Given the description of an element on the screen output the (x, y) to click on. 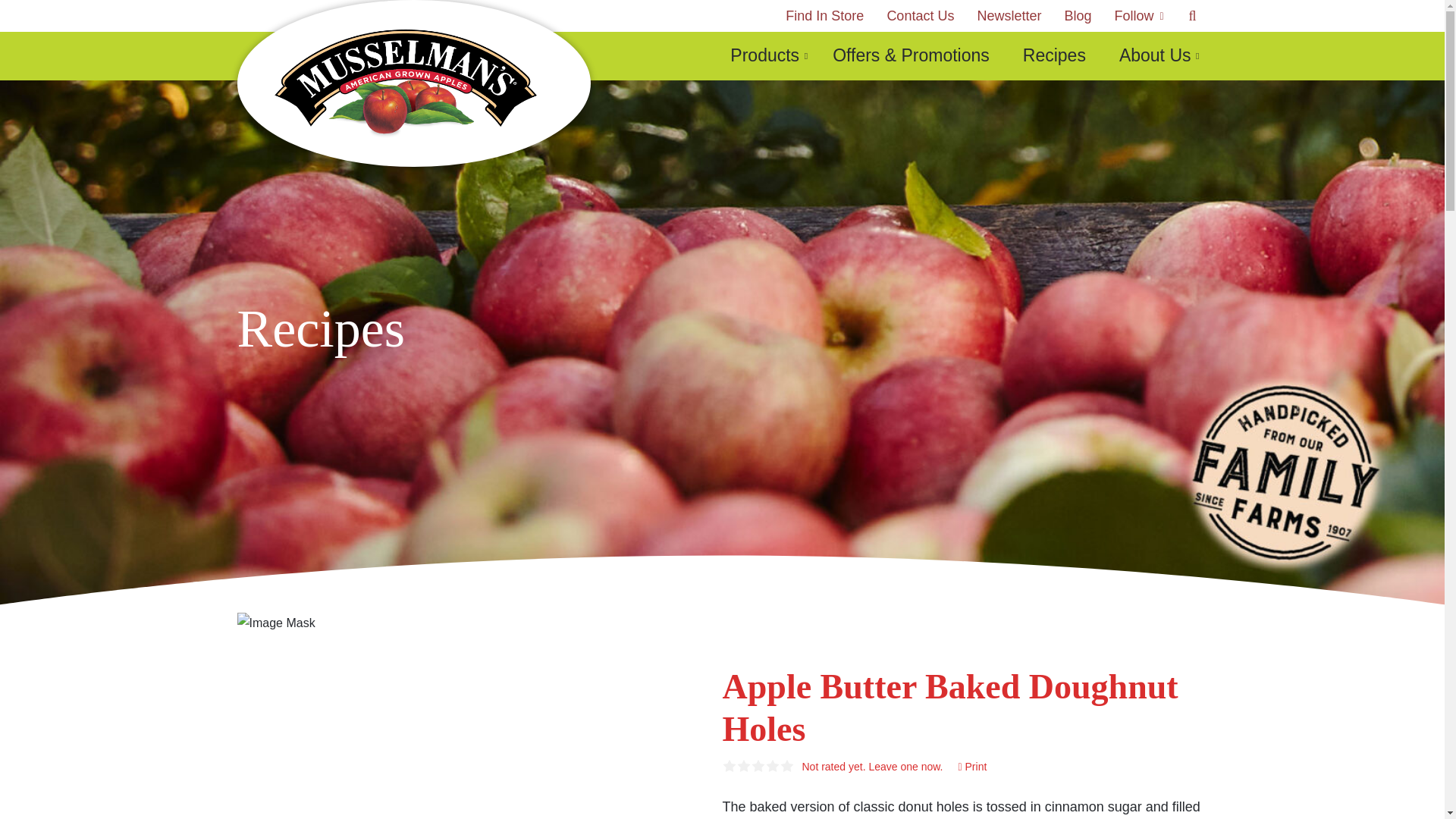
Contact Us (920, 15)
About Us (1155, 55)
Newsletter (1008, 15)
Blog (1077, 15)
Find In Store (824, 15)
Not rated yet. Leave one now. (872, 766)
Products (764, 55)
Recipes (1054, 55)
Print (972, 766)
Follow (1137, 15)
